Given the description of an element on the screen output the (x, y) to click on. 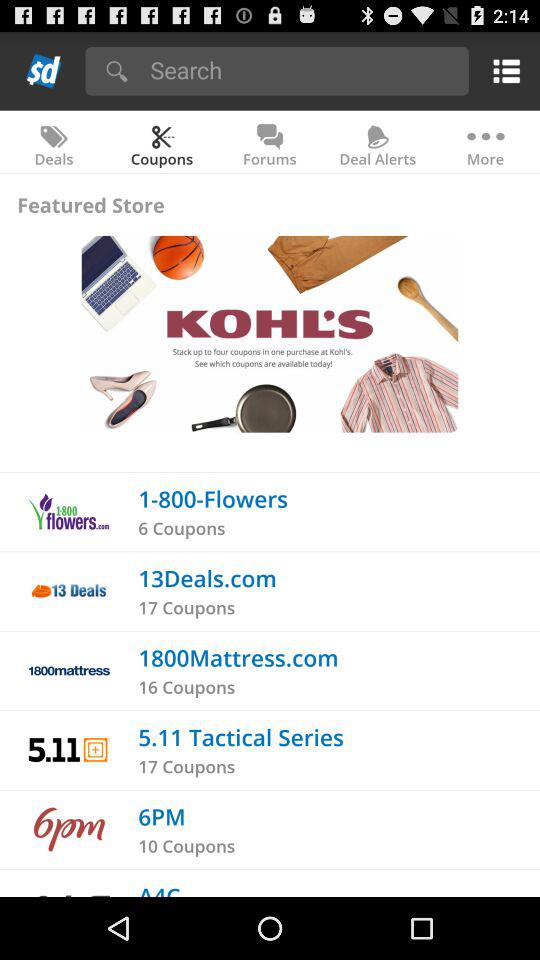
open the menu option (502, 70)
